Given the description of an element on the screen output the (x, y) to click on. 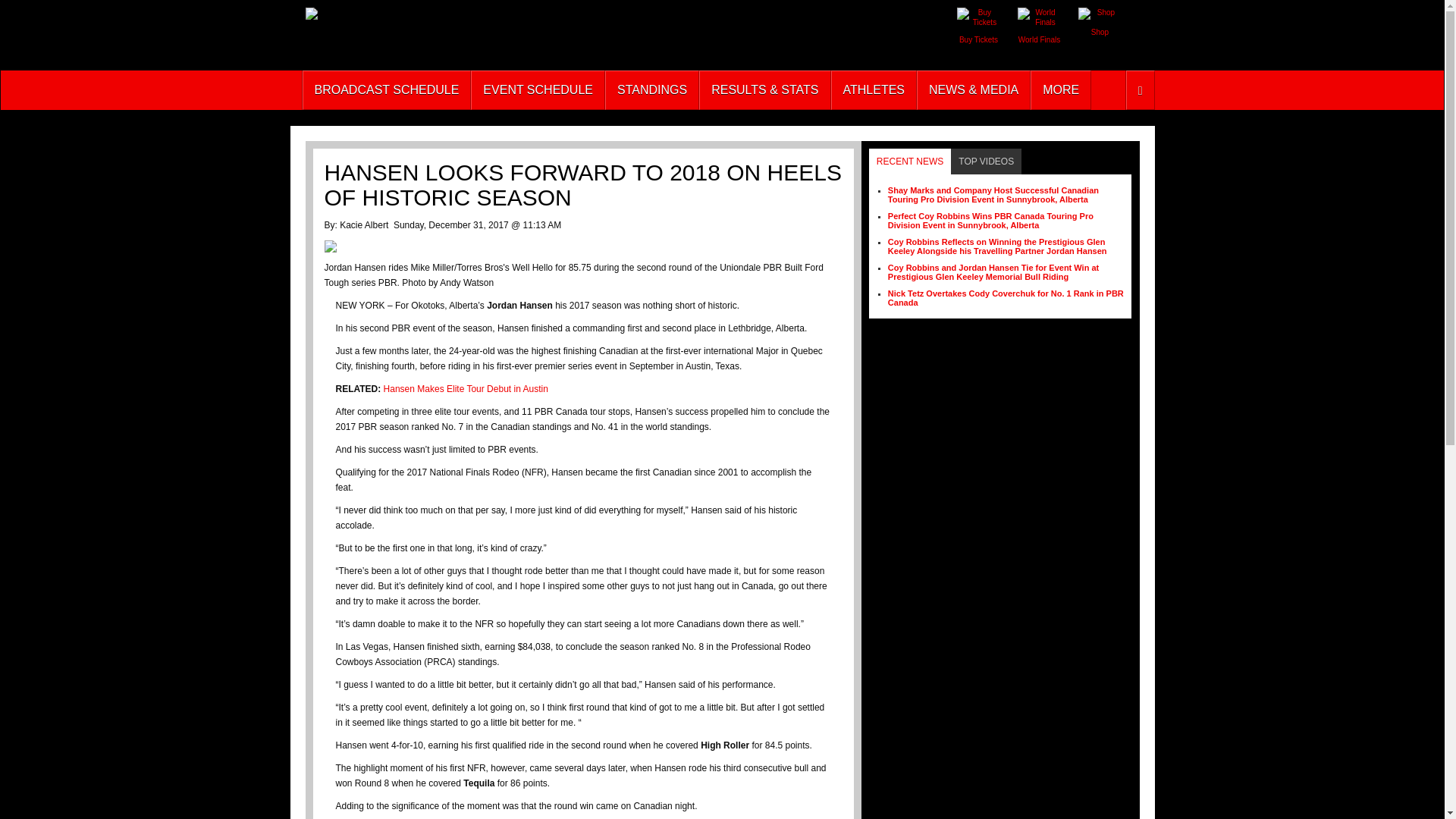
EVENT SCHEDULE (537, 89)
STANDINGS (651, 89)
MORE (1060, 89)
BROADCAST SCHEDULE (385, 89)
ATHLETES (874, 89)
Hansen Makes Elite Tour Debut in Austin (466, 388)
